Given the description of an element on the screen output the (x, y) to click on. 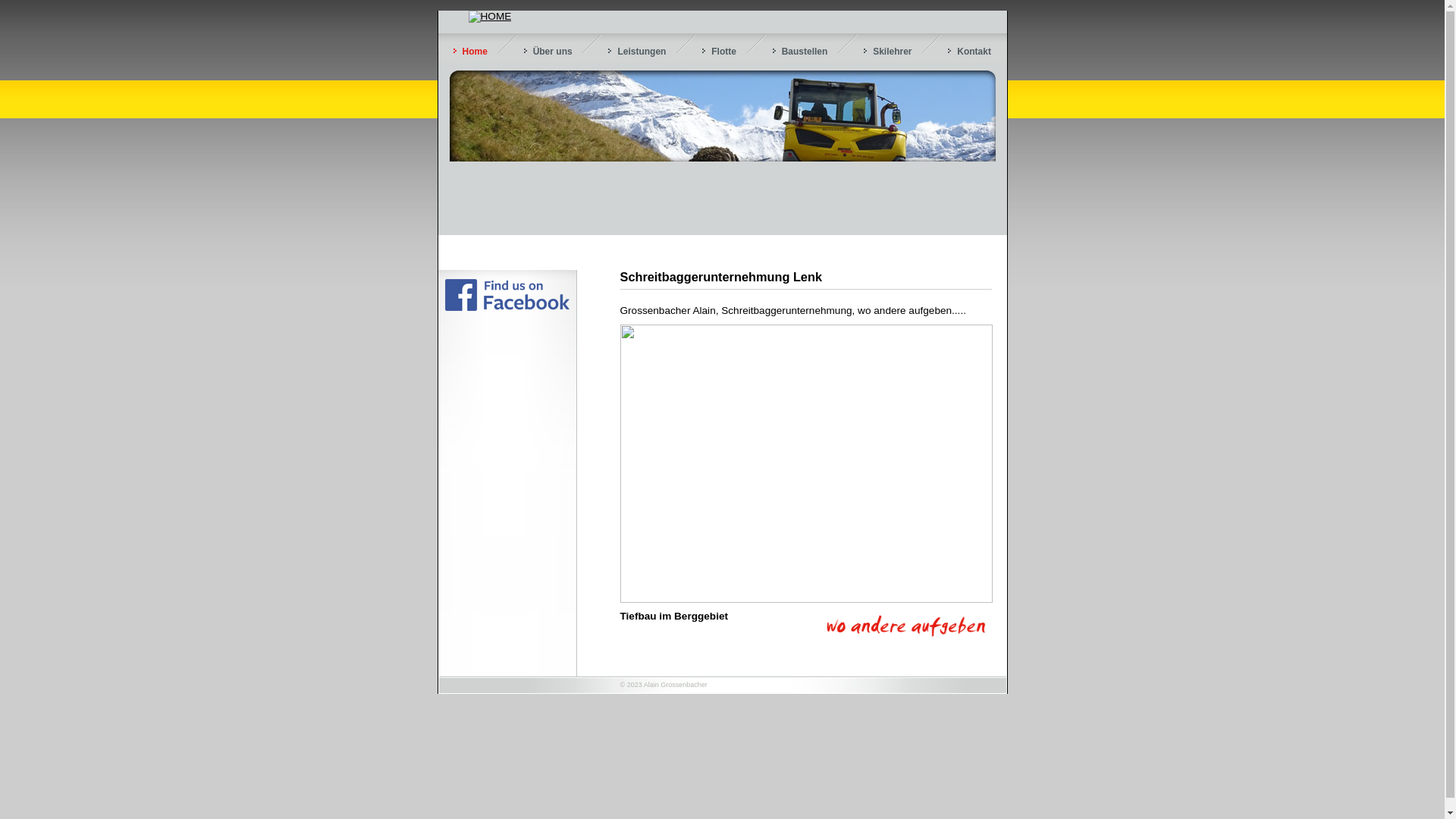
Baustellen Element type: text (800, 51)
Flotte Element type: text (719, 51)
Skilehrer Element type: text (887, 51)
Leistungen Element type: text (636, 51)
Home Element type: text (470, 51)
Kontakt Element type: text (969, 51)
